Given the description of an element on the screen output the (x, y) to click on. 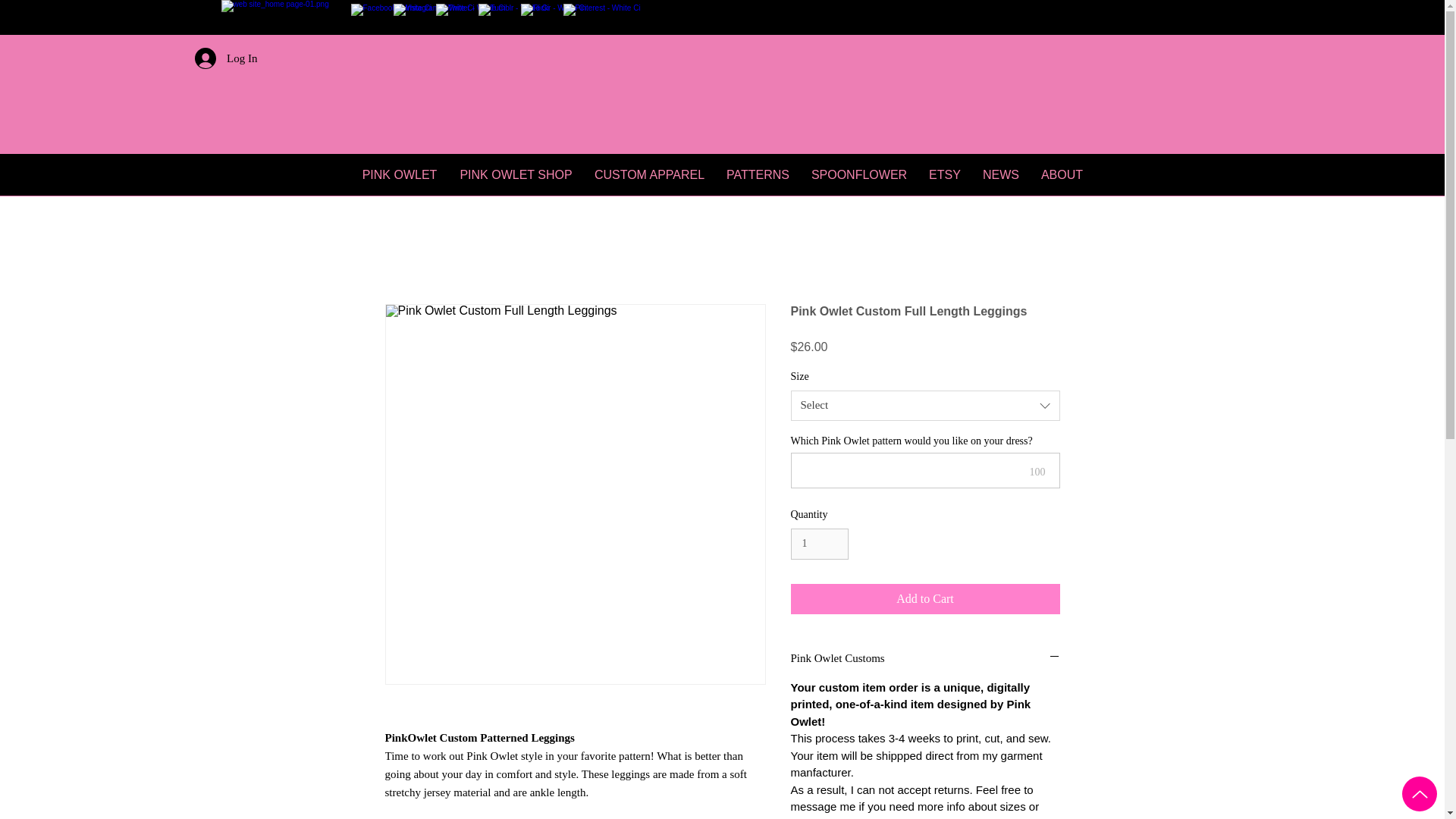
NEWS (1000, 174)
Pink Owlet Customs (924, 658)
Log In (225, 58)
PATTERNS (757, 174)
SPOONFLOWER (858, 174)
1 (818, 543)
ETSY (944, 174)
PINK OWLET (400, 174)
CUSTOM APPAREL (648, 174)
PINK OWLET SHOP (515, 174)
Add to Cart (924, 598)
Select (924, 405)
